Given the description of an element on the screen output the (x, y) to click on. 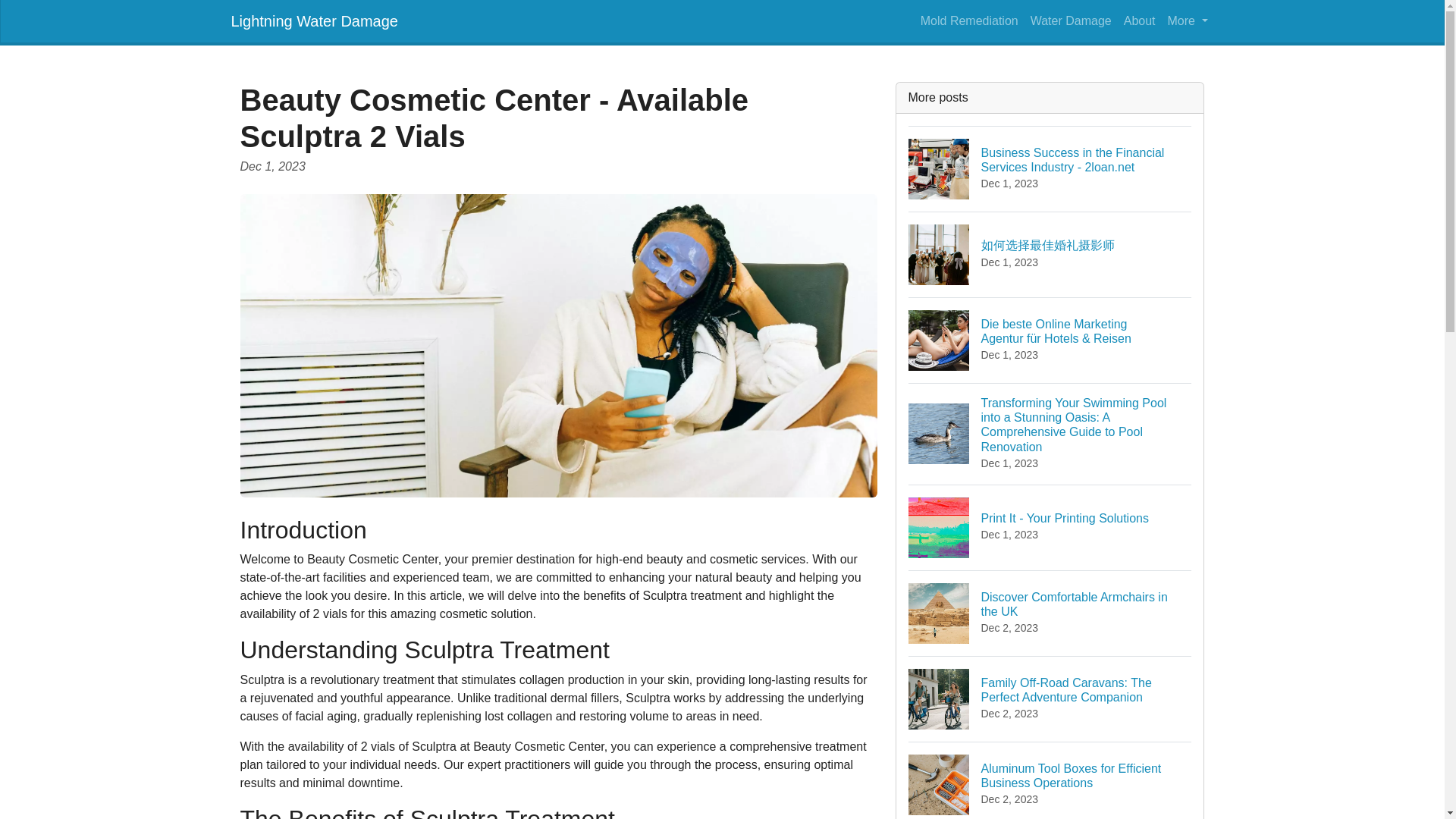
Lightning Water Damage (313, 20)
Water Damage (1071, 20)
More (1050, 527)
About (1187, 20)
Mold Remediation (1139, 20)
